Given the description of an element on the screen output the (x, y) to click on. 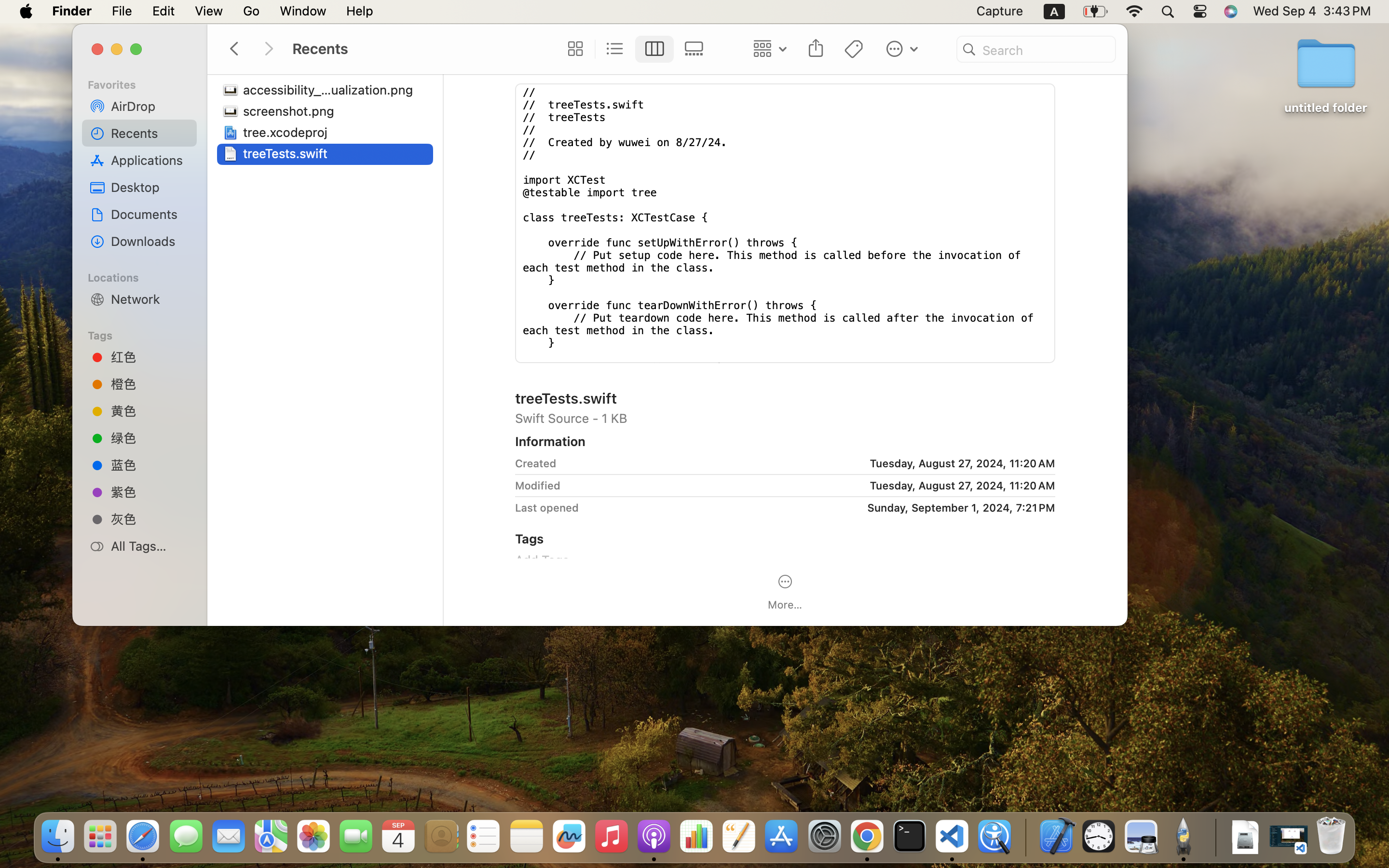
绿色 Element type: AXStaticText (149, 437)
Applications Element type: AXStaticText (149, 159)
Last opened Element type: AXStaticText (546, 507)
紫色 Element type: AXStaticText (149, 491)
灰色 Element type: AXStaticText (149, 518)
